Given the description of an element on the screen output the (x, y) to click on. 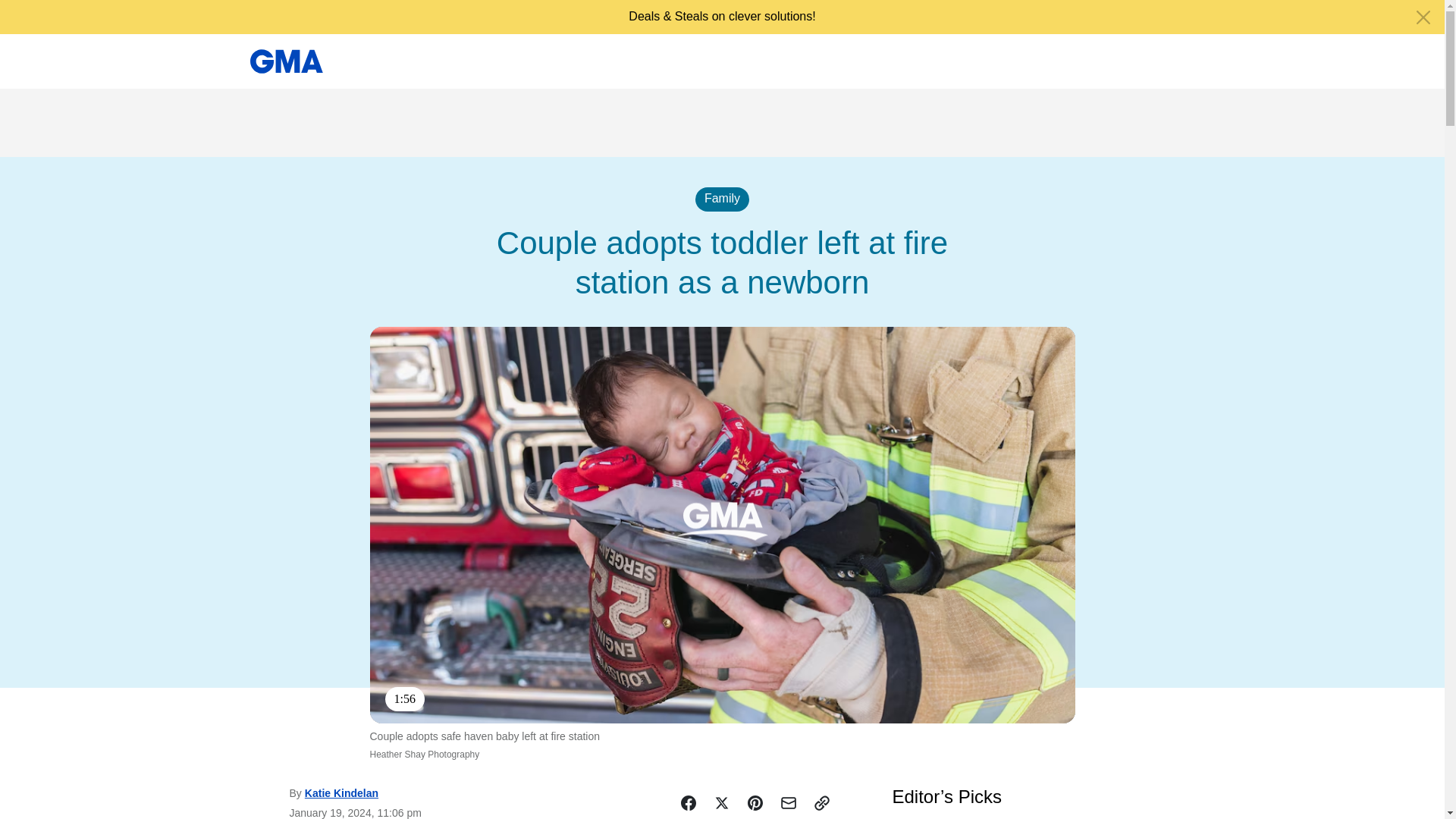
Family (722, 199)
Katie Kindelan (341, 793)
